Given the description of an element on the screen output the (x, y) to click on. 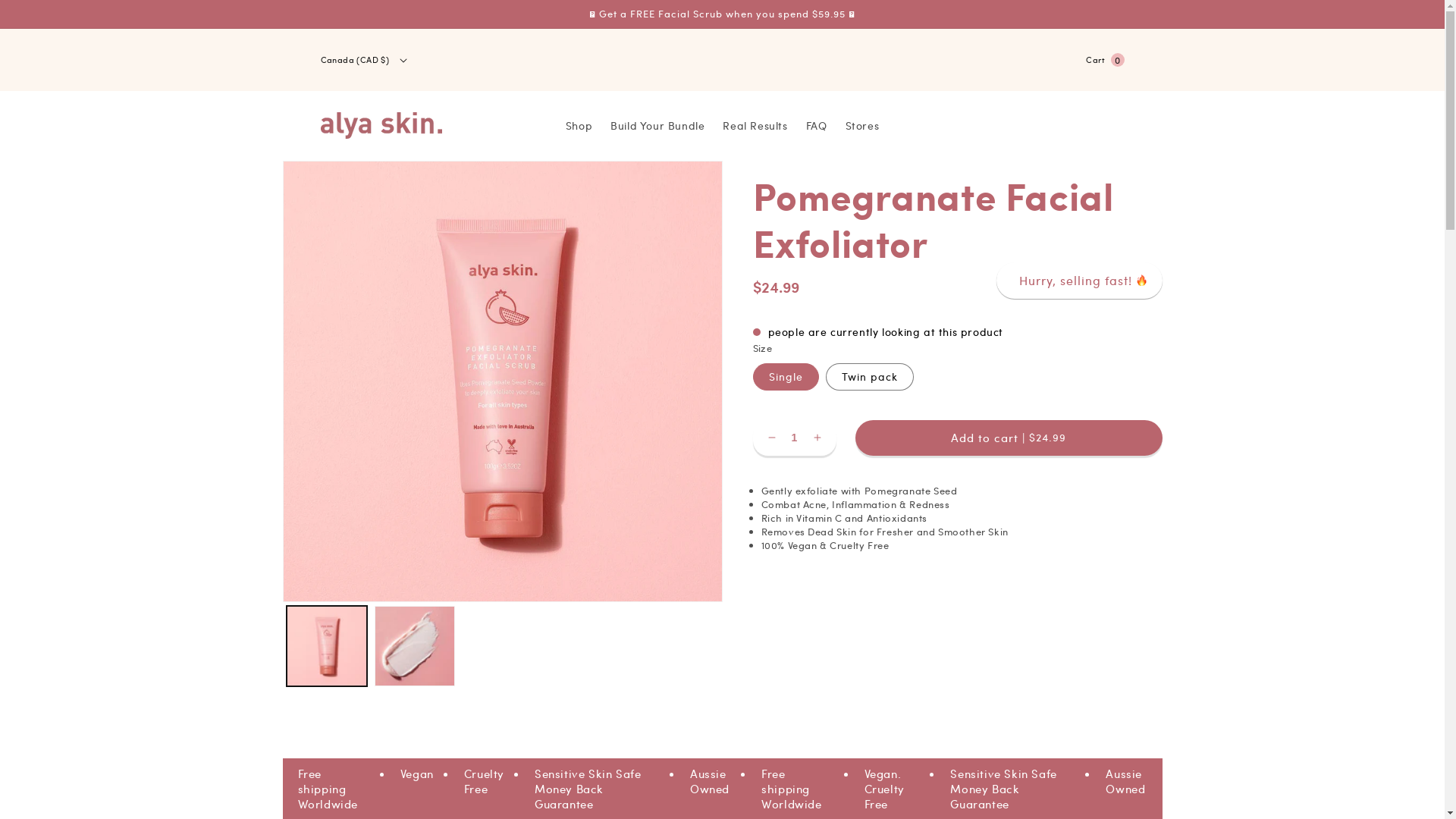
Skip to product information Element type: text (328, 177)
Increase quantity for Pomegranate Facial Exfoliator Element type: text (816, 437)
Real Results Element type: text (754, 125)
Build Your Bundle Element type: text (657, 125)
Stores Element type: text (861, 125)
Shop Element type: text (578, 125)
Decrease quantity for Pomegranate Facial Exfoliator Element type: text (771, 437)
Add to cart |
$24.99 Element type: text (1008, 437)
FAQ Element type: text (816, 125)
Canada (CAD $) Element type: text (369, 59)
